Given the description of an element on the screen output the (x, y) to click on. 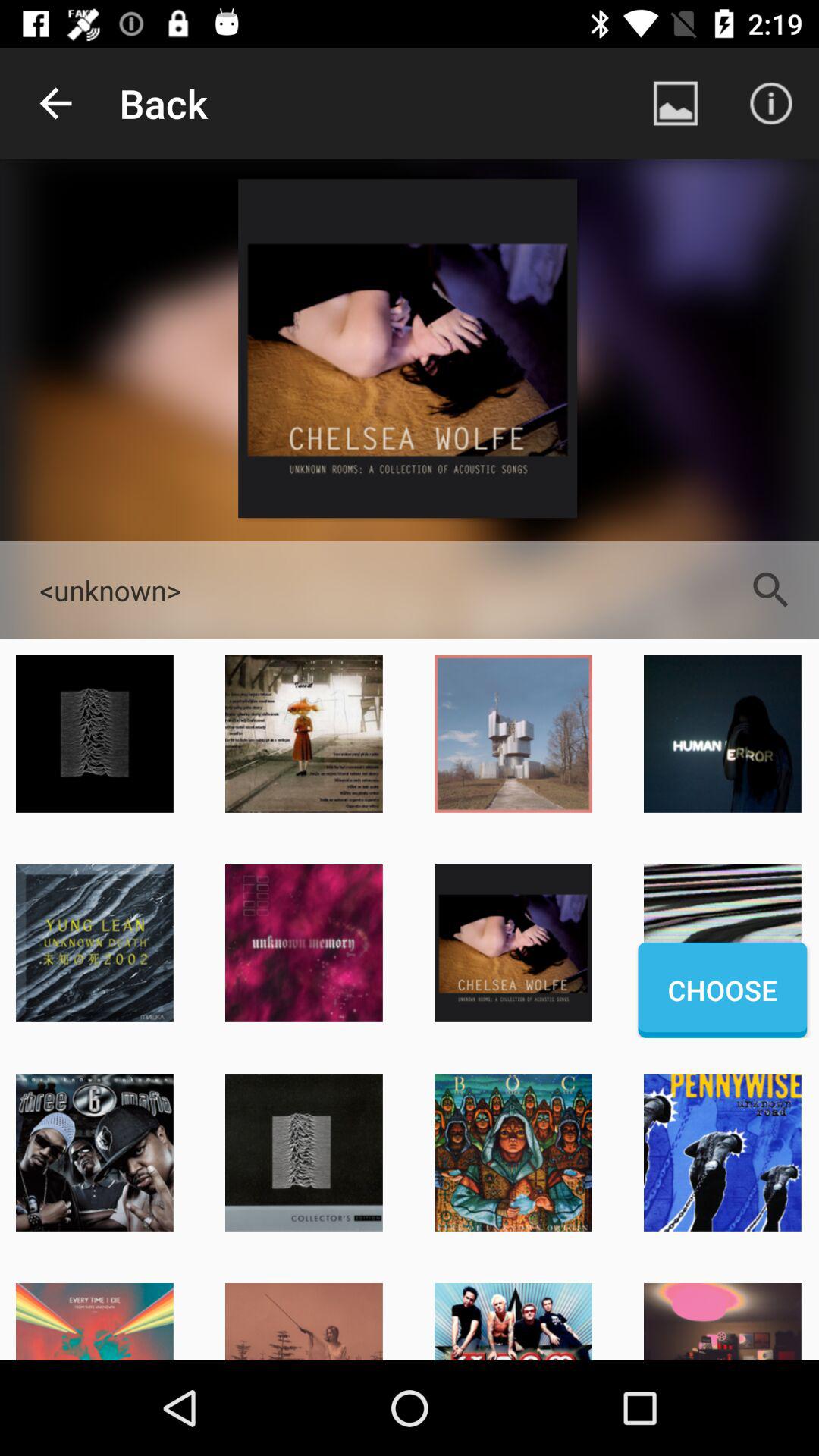
select item next to the back item (675, 103)
